Given the description of an element on the screen output the (x, y) to click on. 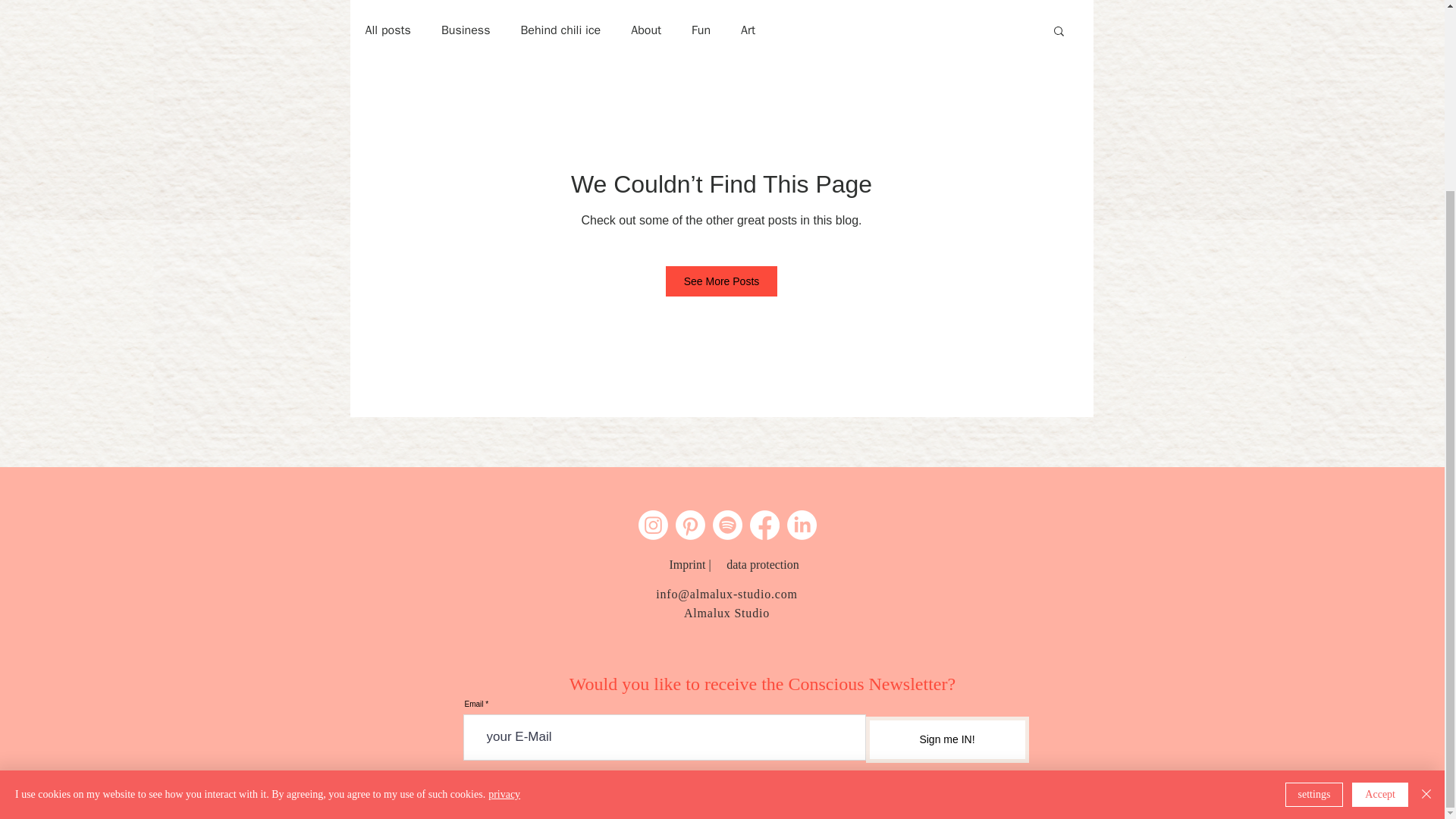
All posts (387, 30)
data protection (762, 565)
Accept (1379, 556)
See More Posts (721, 281)
Behind chili ice (559, 30)
Art (748, 30)
About (645, 30)
settings (1314, 556)
privacy (503, 555)
Business (465, 30)
Fun (700, 30)
Sign me IN! (947, 739)
